Given the description of an element on the screen output the (x, y) to click on. 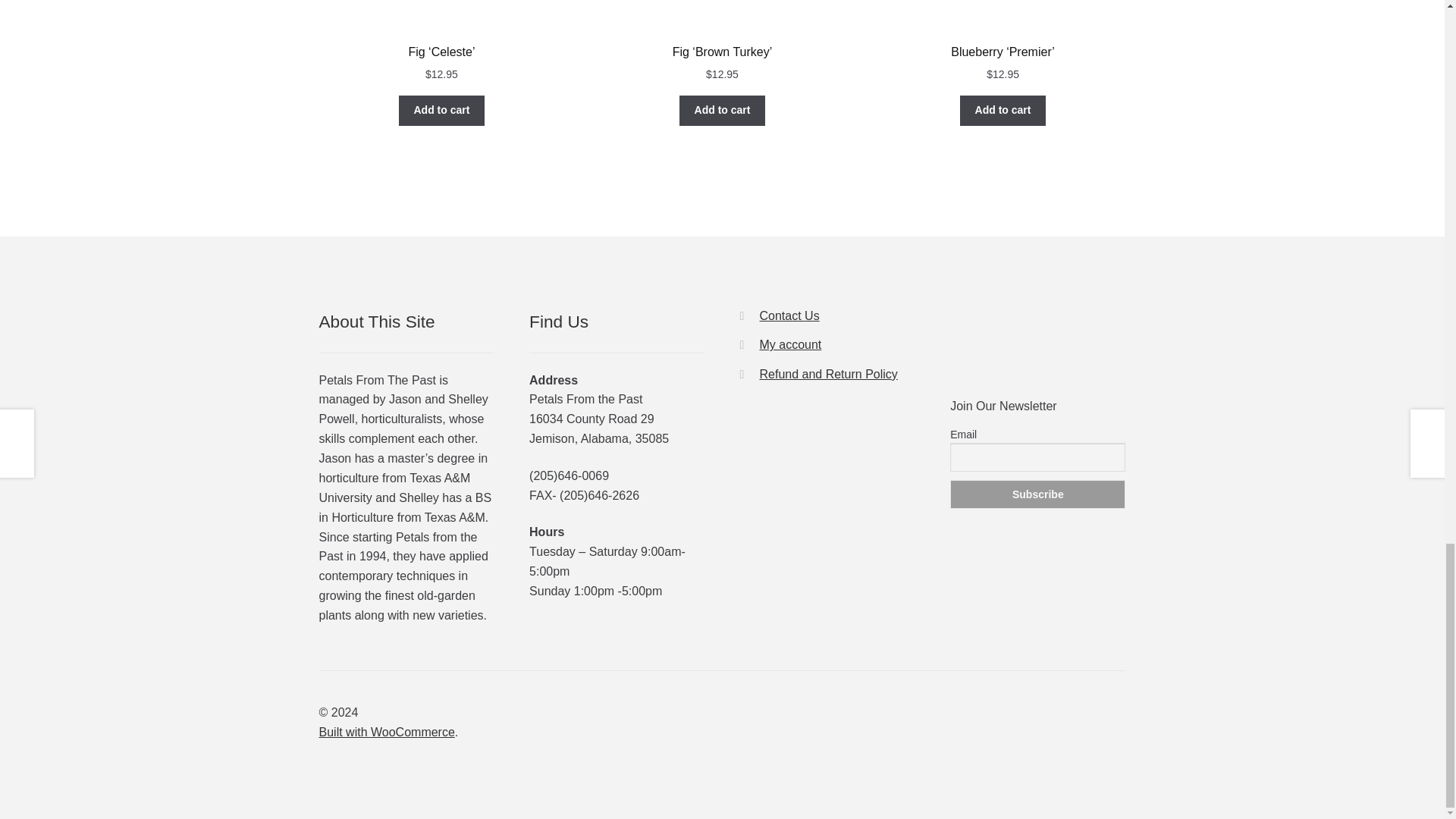
WooCommerce - The Best eCommerce Platform for WordPress (386, 731)
Subscribe (1037, 493)
